Given the description of an element on the screen output the (x, y) to click on. 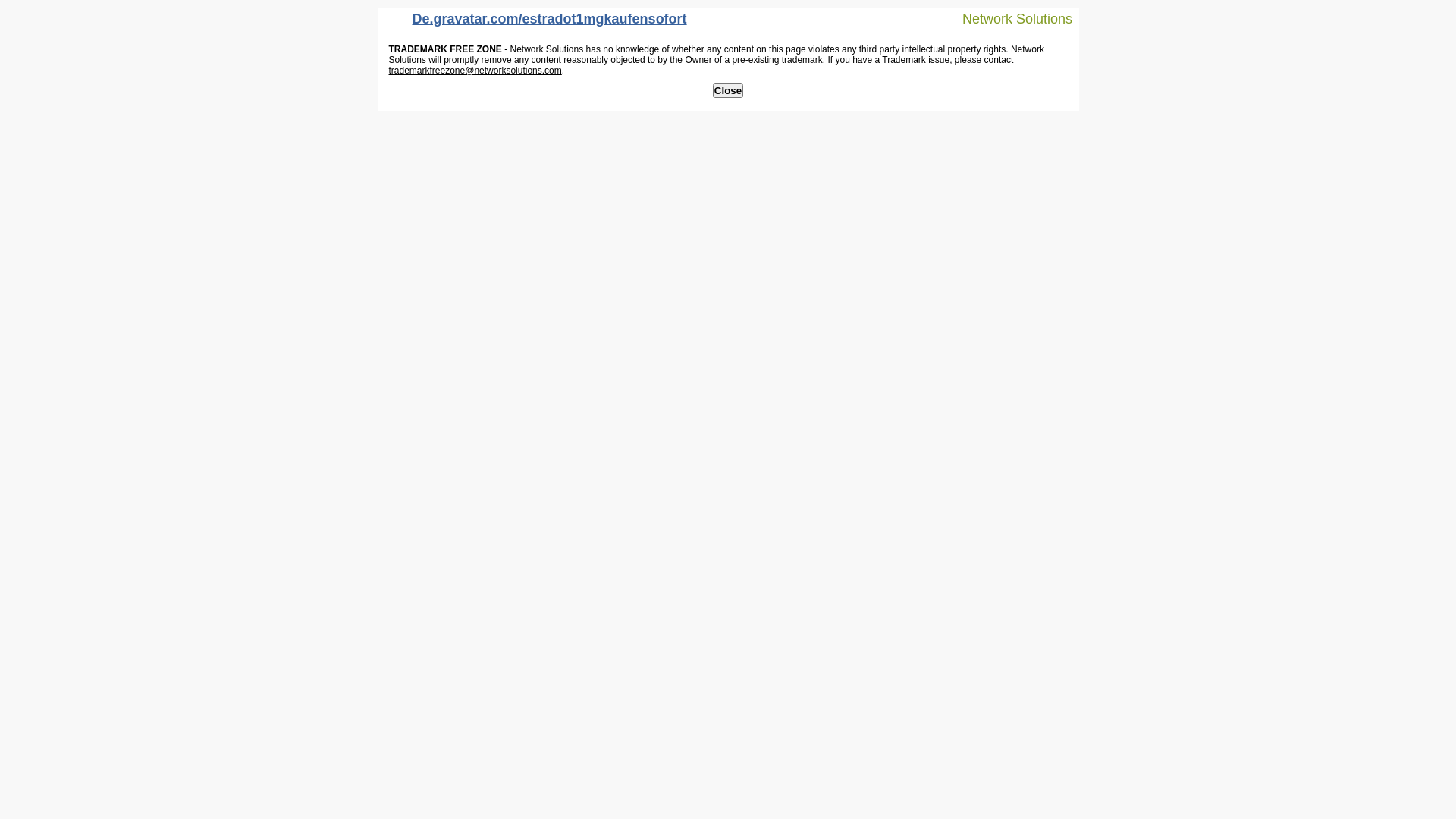
De.gravatar.com/estradot1mgkaufensofort Element type: text (536, 21)
Close Element type: text (727, 90)
trademarkfreezone@networksolutions.com Element type: text (474, 70)
Network Solutions Element type: text (1007, 17)
